Given the description of an element on the screen output the (x, y) to click on. 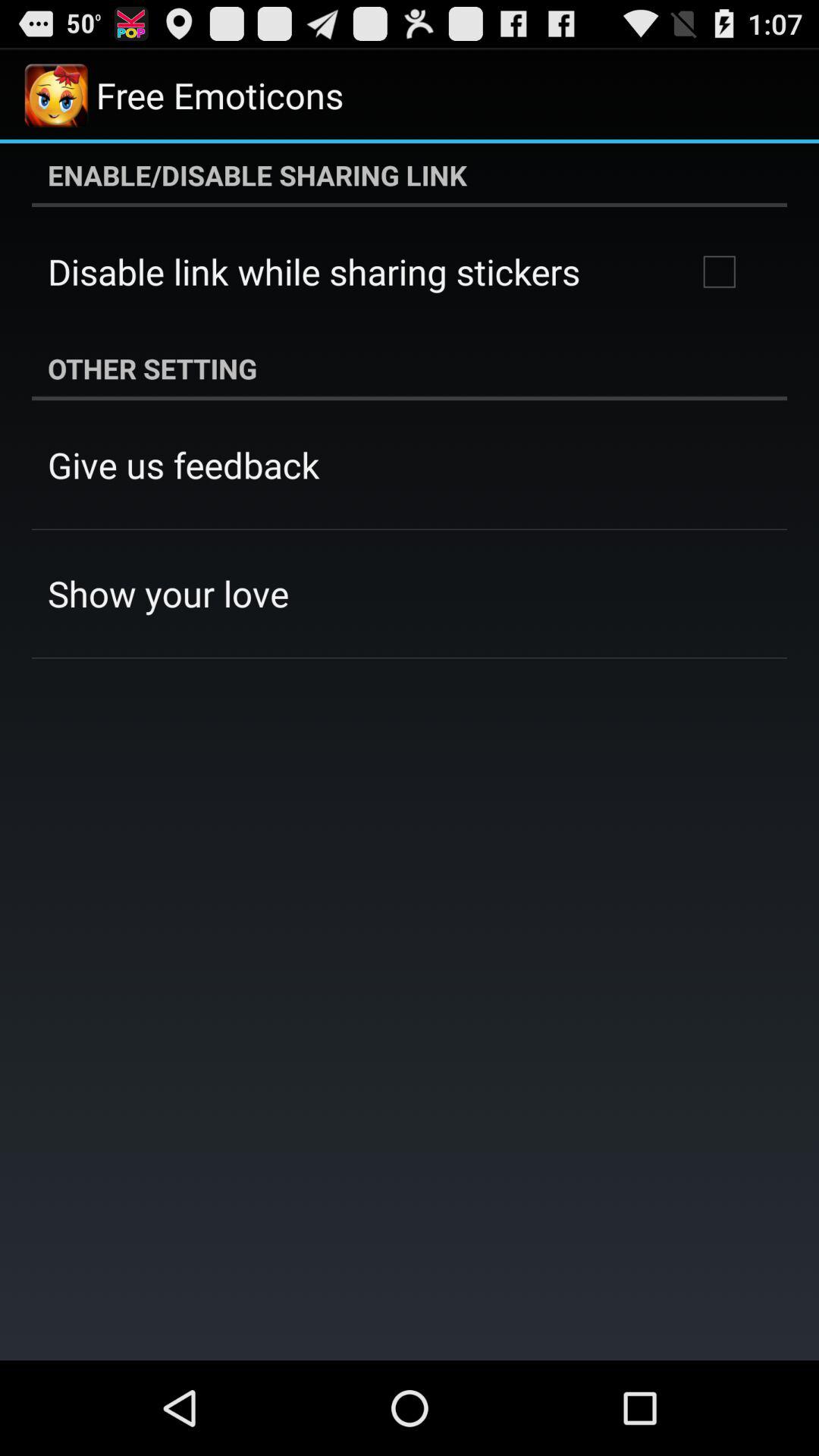
press the item above other setting item (719, 271)
